Given the description of an element on the screen output the (x, y) to click on. 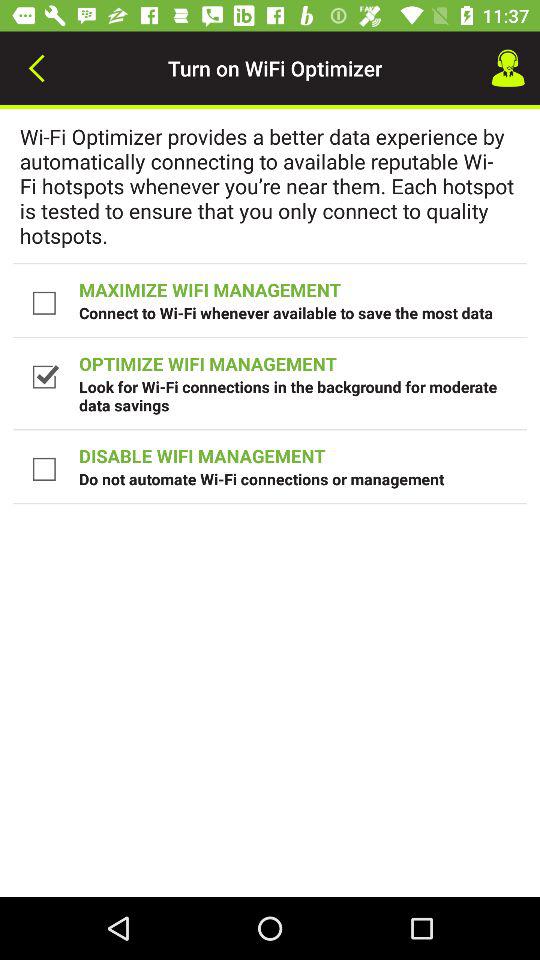
select the item next to the turn on wifi icon (36, 68)
